Given the description of an element on the screen output the (x, y) to click on. 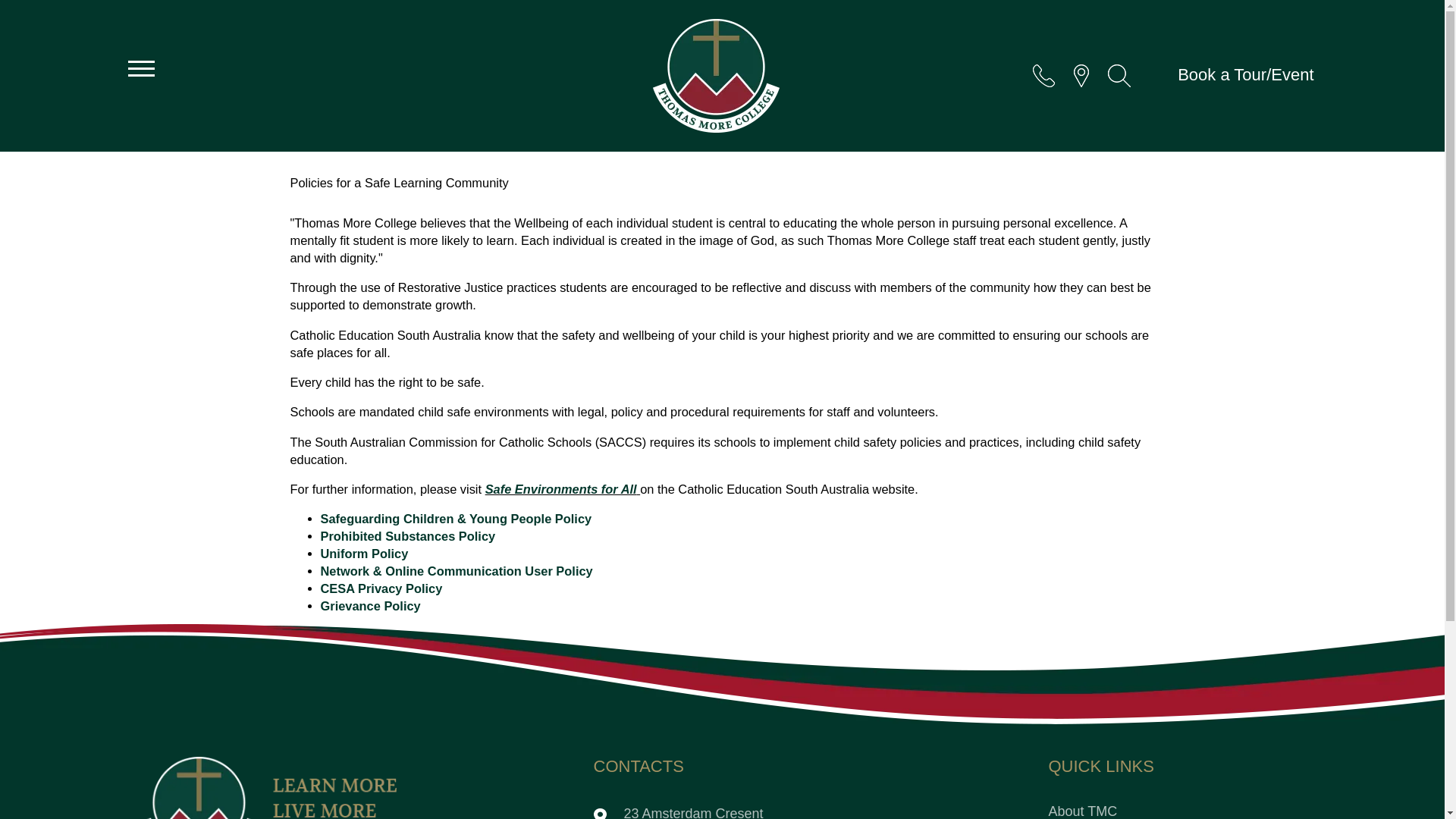
Thomas More College (715, 75)
Search (1119, 75)
Call Us (1043, 75)
Thomas More College (267, 787)
Visit Us (686, 811)
Visit Us (1081, 75)
